Given the description of an element on the screen output the (x, y) to click on. 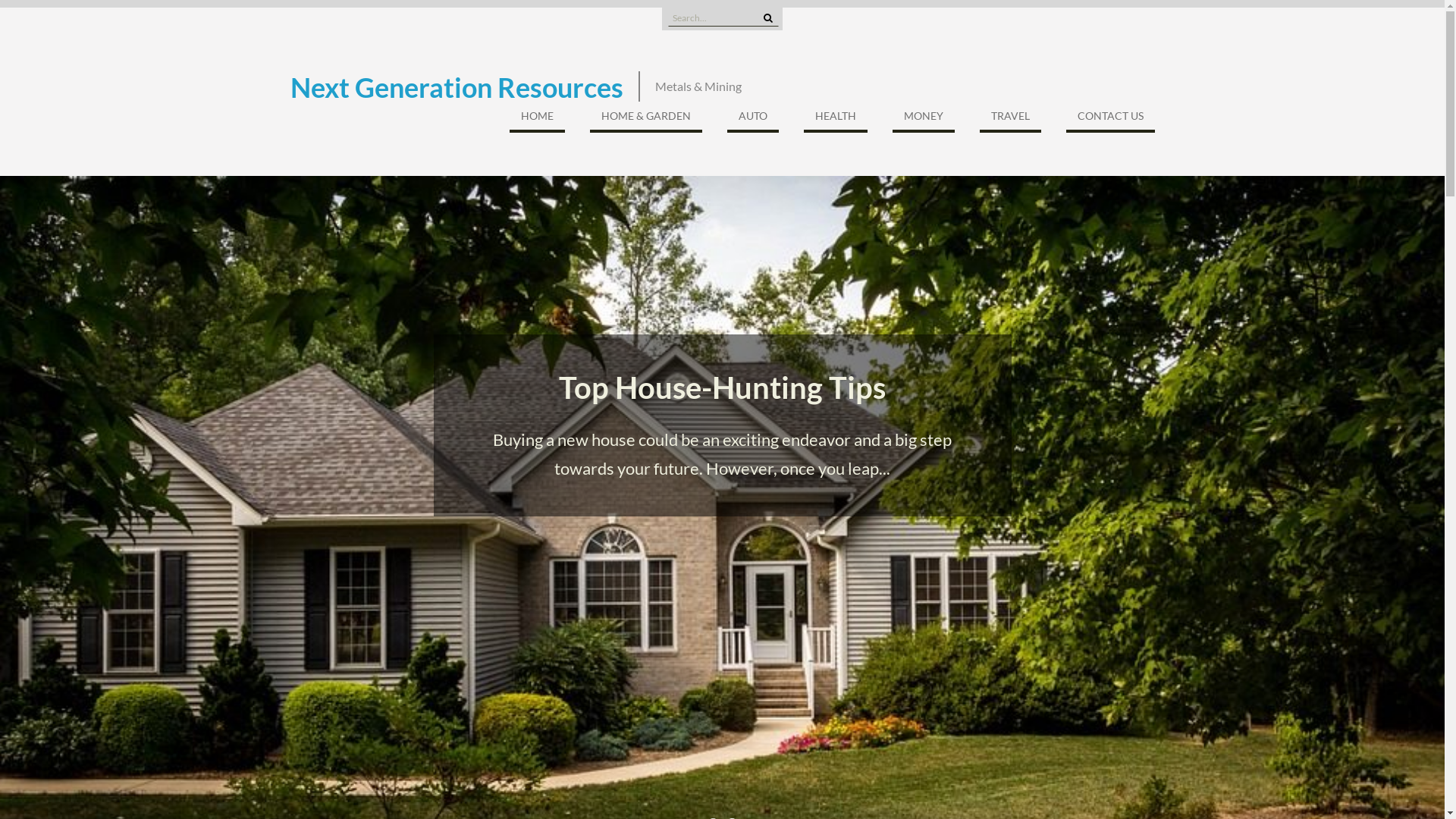
Next Generation Resources Element type: text (455, 86)
Top House-Hunting Tips Element type: text (721, 387)
Skip to content Element type: text (0, 0)
HOME Element type: text (536, 118)
HOME & GARDEN Element type: text (645, 118)
AUTO Element type: text (752, 118)
TRAVEL Element type: text (1010, 118)
MONEY Element type: text (922, 118)
CONTACT US Element type: text (1110, 118)
HEALTH Element type: text (835, 118)
